Given the description of an element on the screen output the (x, y) to click on. 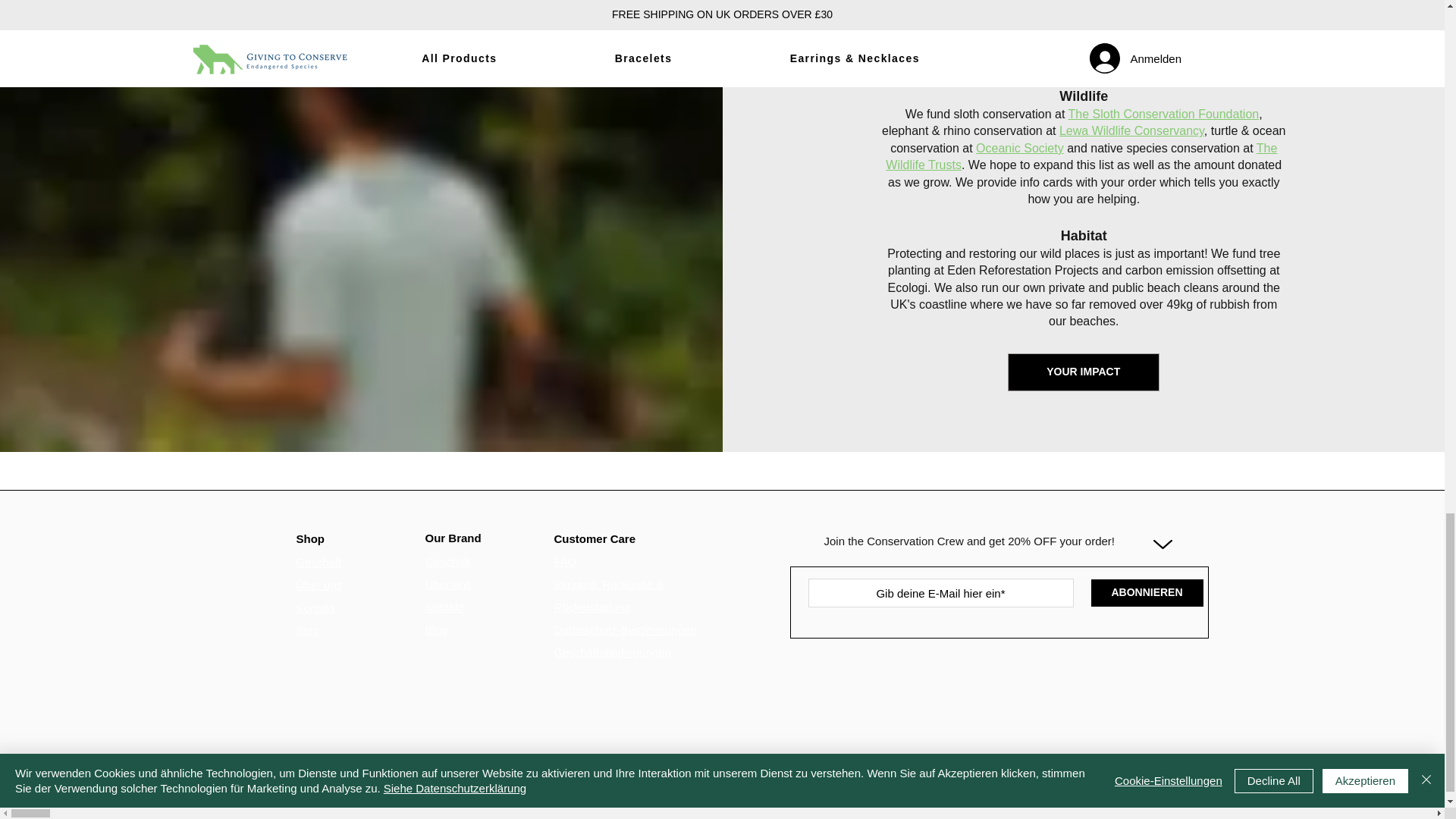
Kontakt (444, 606)
Lewa Wildlife Conservancy (1131, 130)
The Sloth Conservation Foundation (1163, 113)
Datenschutz-Bestimmungen (624, 629)
Blog (435, 629)
The Wildlife Trusts (1080, 156)
YOUR IMPACT (1082, 371)
Blog (306, 630)
Trustpilot review (1005, 734)
Kontakt (314, 607)
Oceanic Society (1019, 147)
FAQ (564, 561)
ABONNIEREN (1147, 592)
